Given the description of an element on the screen output the (x, y) to click on. 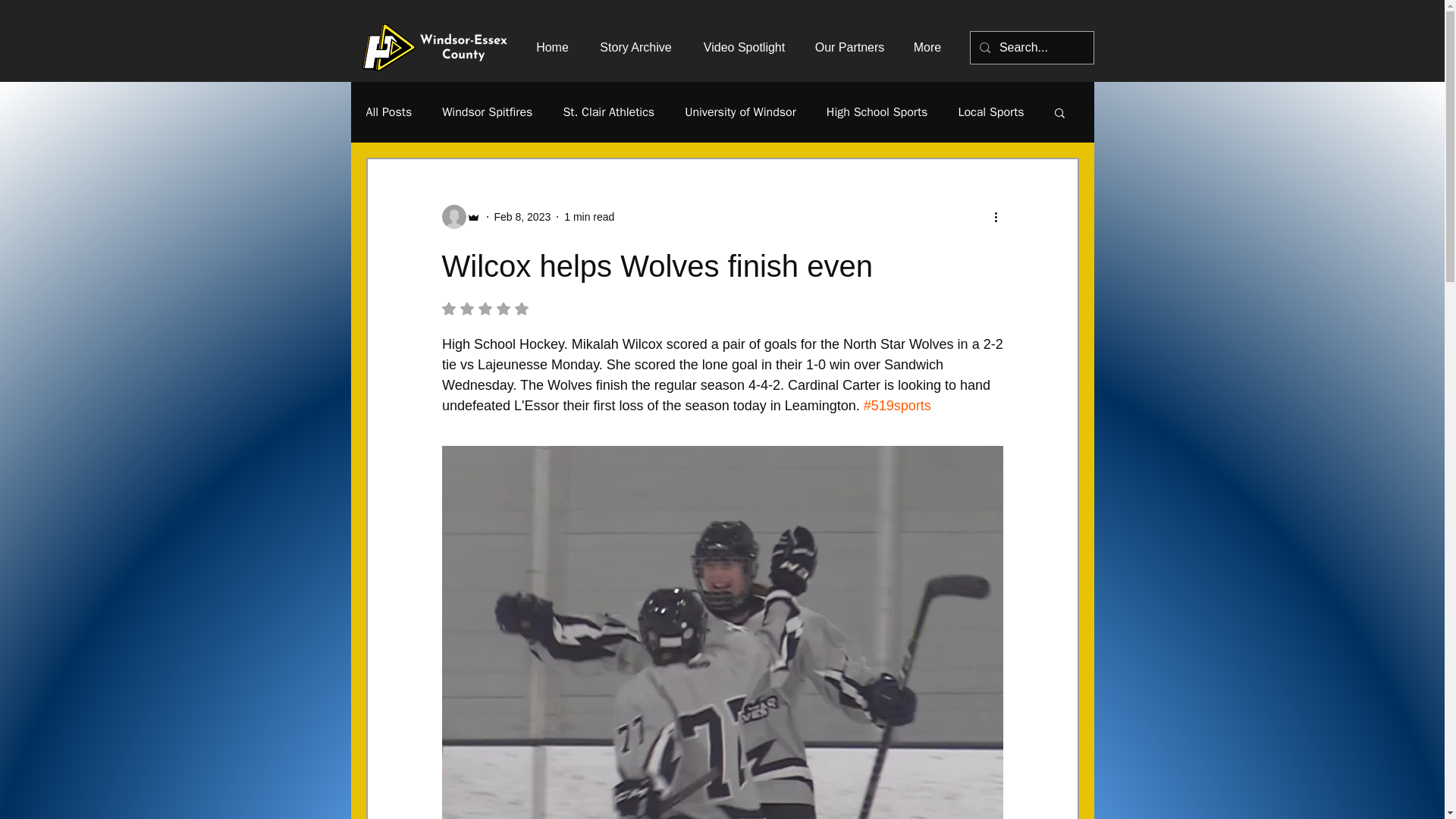
Local Sports (990, 112)
1 min read (589, 216)
Home (551, 47)
Feb 8, 2023 (523, 216)
Our Partners (849, 47)
High School Sports (877, 112)
University of Windsor (740, 112)
Video Spotlight (743, 47)
All Posts (388, 112)
St. Clair Athletics (607, 112)
Windsor Spitfires (487, 112)
Story Archive (635, 47)
